Given the description of an element on the screen output the (x, y) to click on. 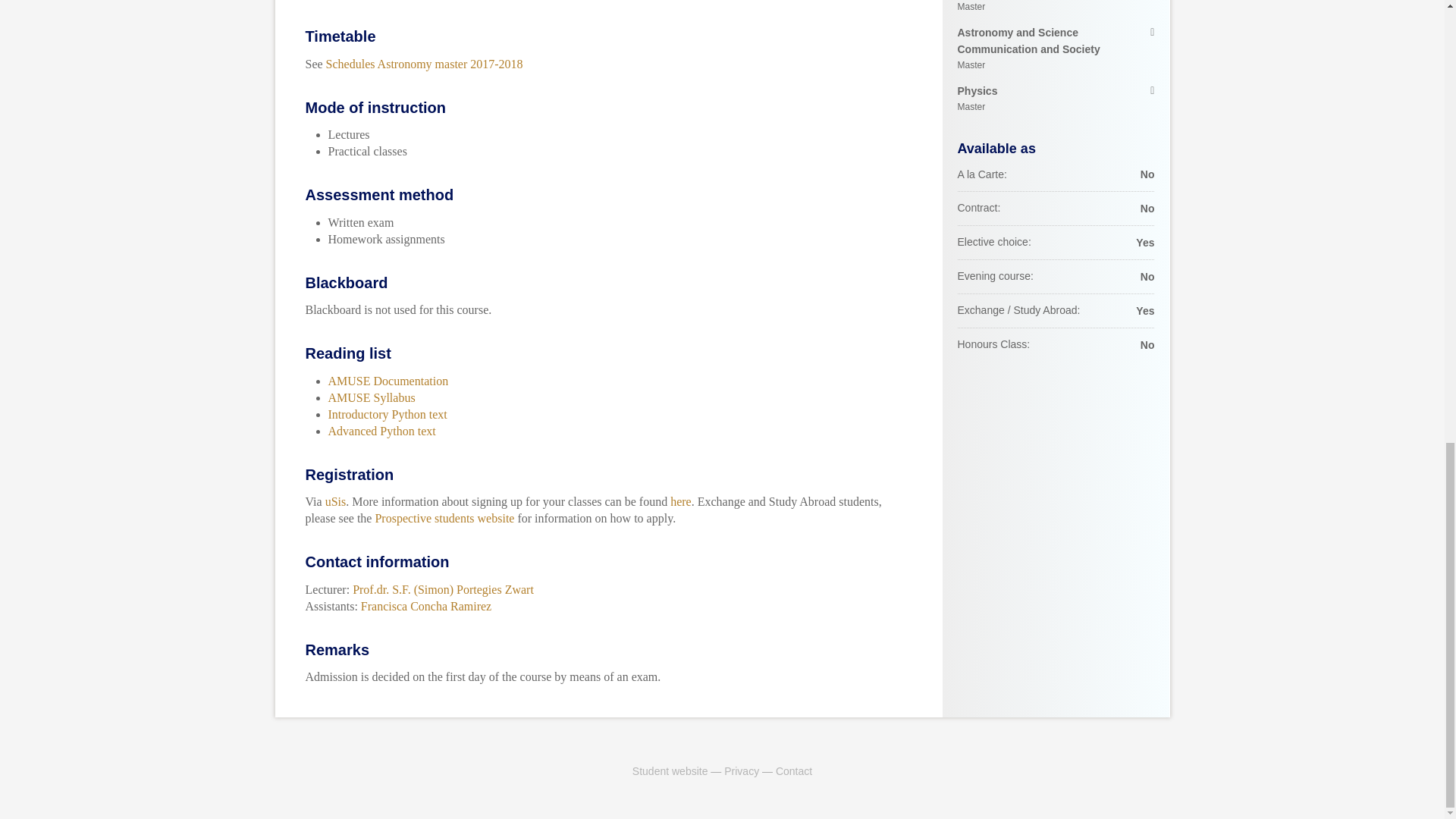
uSis (335, 501)
here (680, 501)
Francisca Concha Ramirez (1055, 49)
Advanced Python text (426, 604)
Prospective students website (381, 431)
Schedules Astronomy master 2017-2018 (443, 517)
Introductory Python text (424, 63)
AMUSE Syllabus (1055, 7)
Student website (386, 413)
Privacy (1055, 99)
Contact (370, 397)
AMUSE Documentation (669, 770)
